Given the description of an element on the screen output the (x, y) to click on. 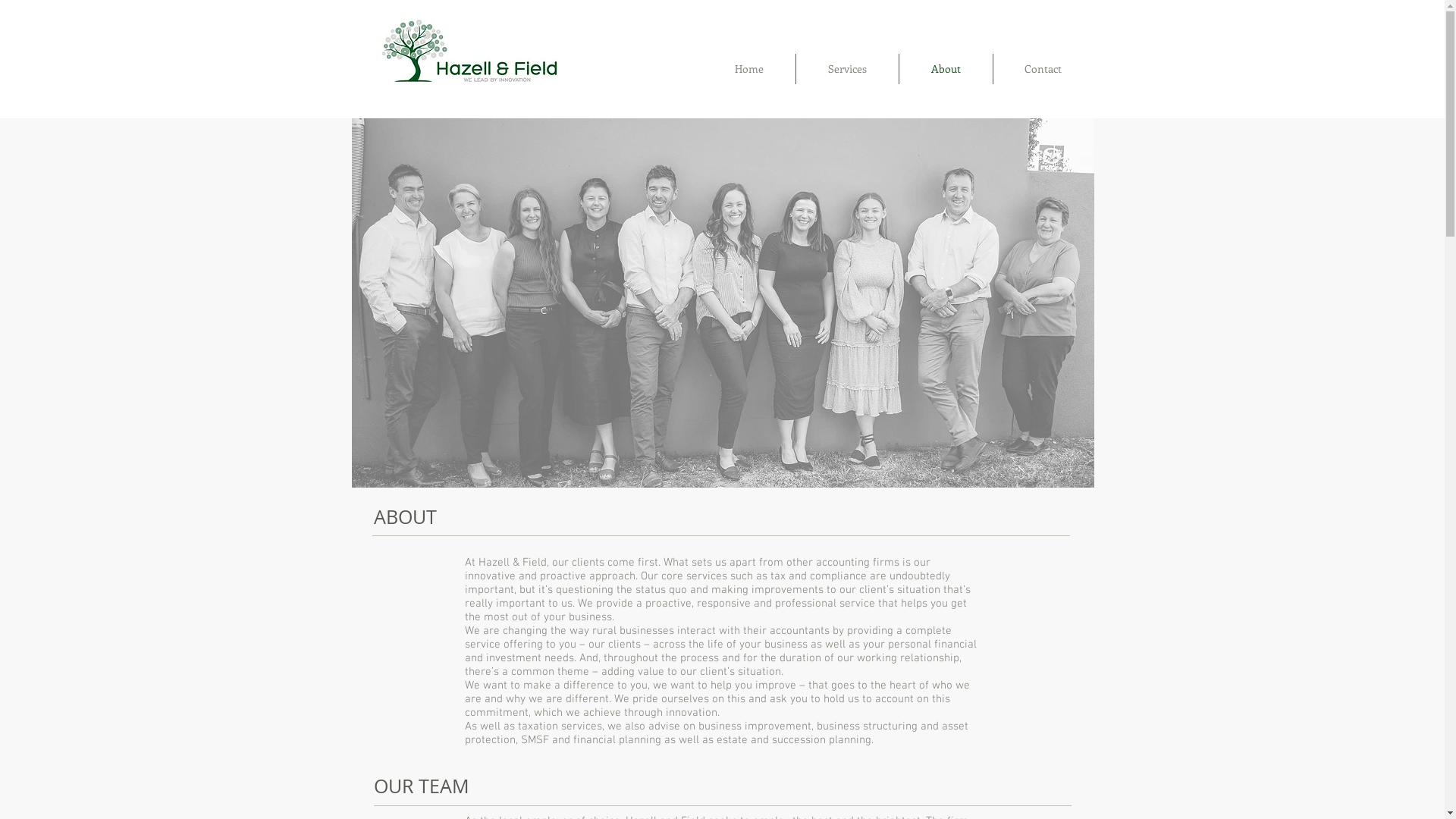
About Element type: text (945, 68)
Contact Element type: text (1043, 68)
Home Element type: text (748, 68)
Services Element type: text (847, 68)
